Given the description of an element on the screen output the (x, y) to click on. 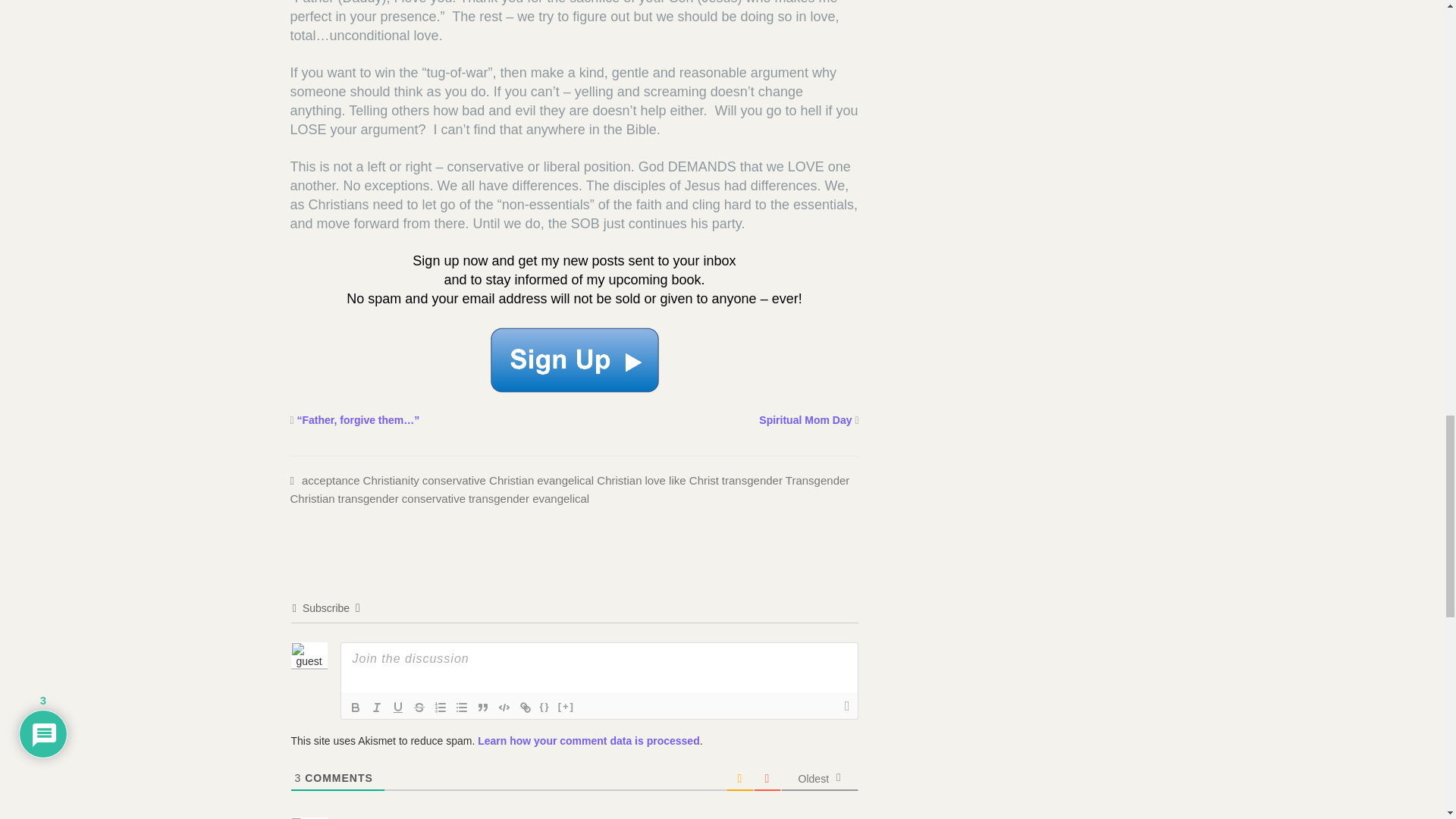
transgender (752, 480)
transgender evangelical (528, 498)
love like Christ (682, 480)
Christianity (390, 480)
evangelical Christian (589, 480)
conservative Christian (478, 480)
transgender conservative (401, 498)
Spiritual Mom Day (804, 419)
Transgender Christian (568, 489)
acceptance (330, 480)
